Given the description of an element on the screen output the (x, y) to click on. 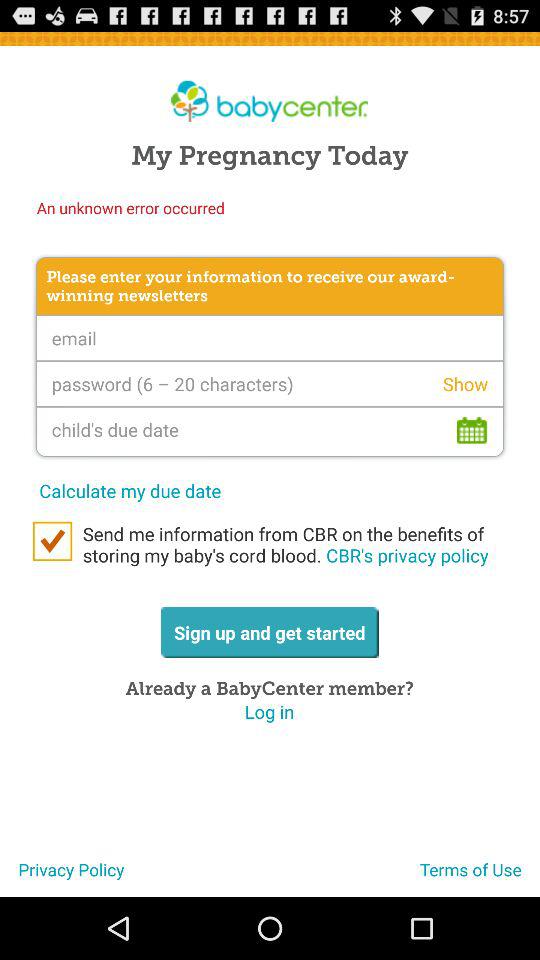
launch item above the privacy policy app (52, 541)
